Given the description of an element on the screen output the (x, y) to click on. 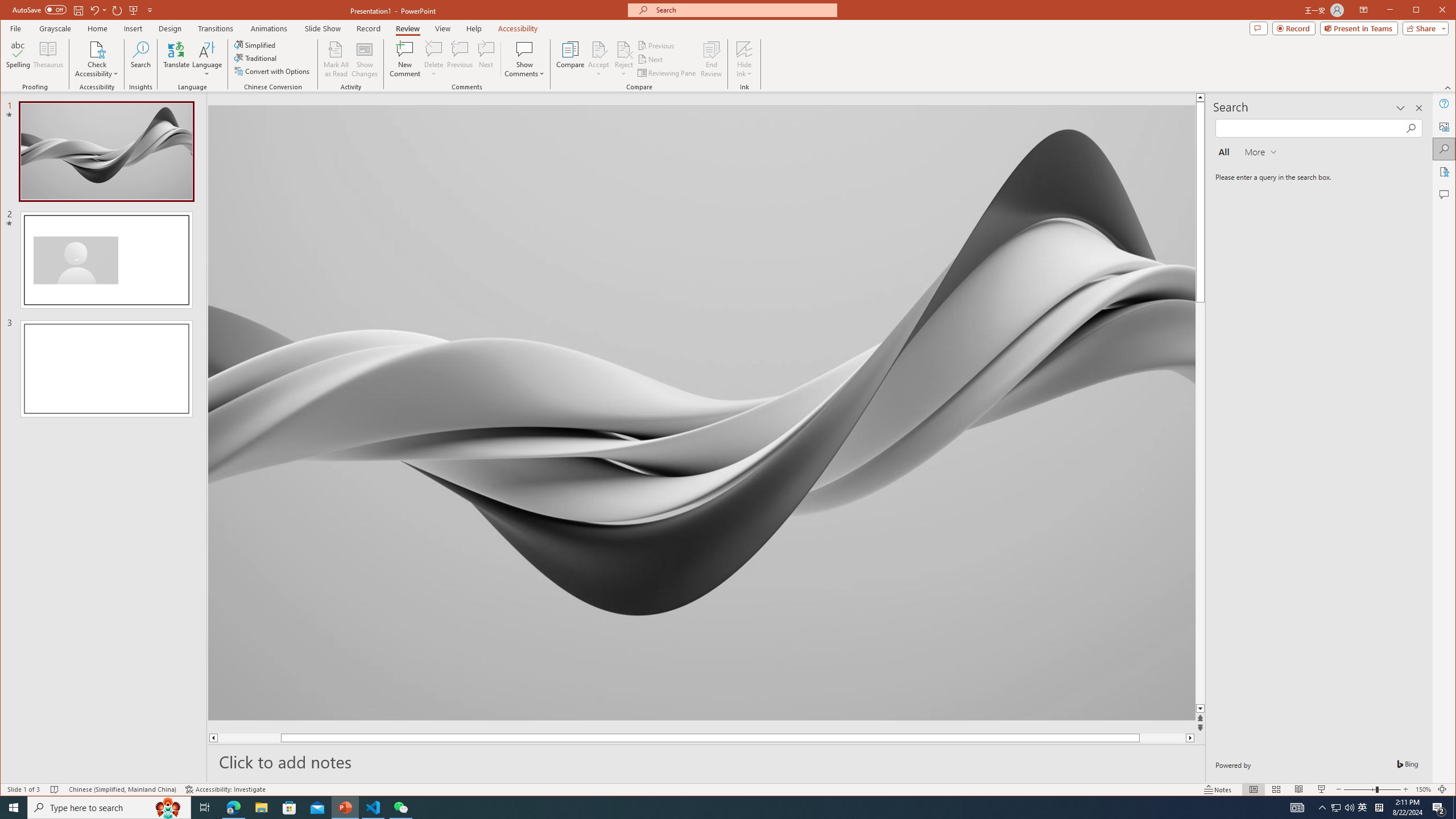
Next (651, 59)
Accept (598, 59)
Translate (175, 59)
Spelling... (18, 59)
Reject Change (623, 48)
